Given the description of an element on the screen output the (x, y) to click on. 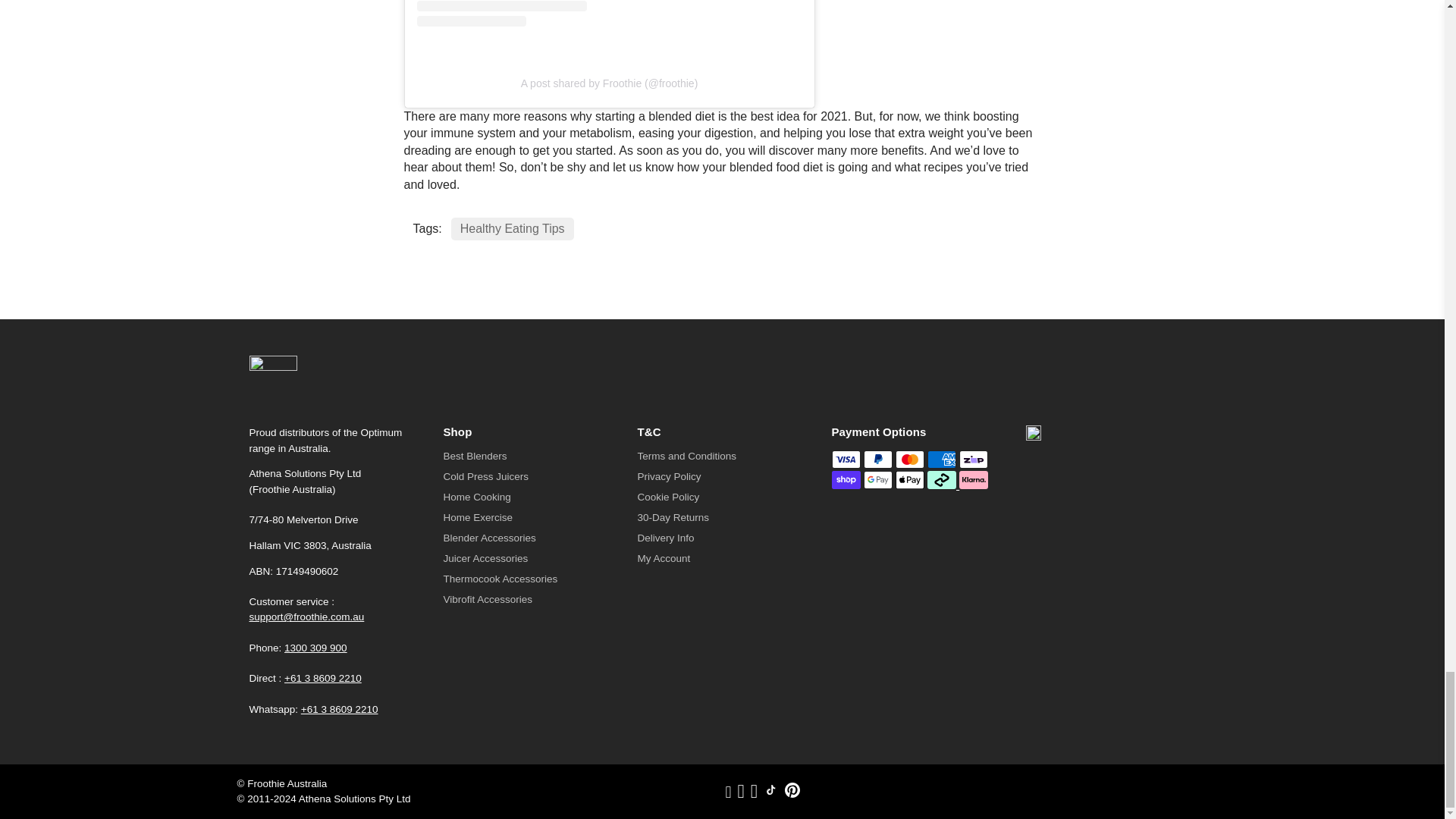
Afterpay (941, 479)
Zip (973, 459)
Klarna (973, 479)
Shop Pay (845, 479)
American Express (941, 459)
Mastercard (909, 459)
Google Pay (877, 479)
Visa (845, 459)
PayPal (877, 459)
Apple Pay (909, 479)
